Given the description of an element on the screen output the (x, y) to click on. 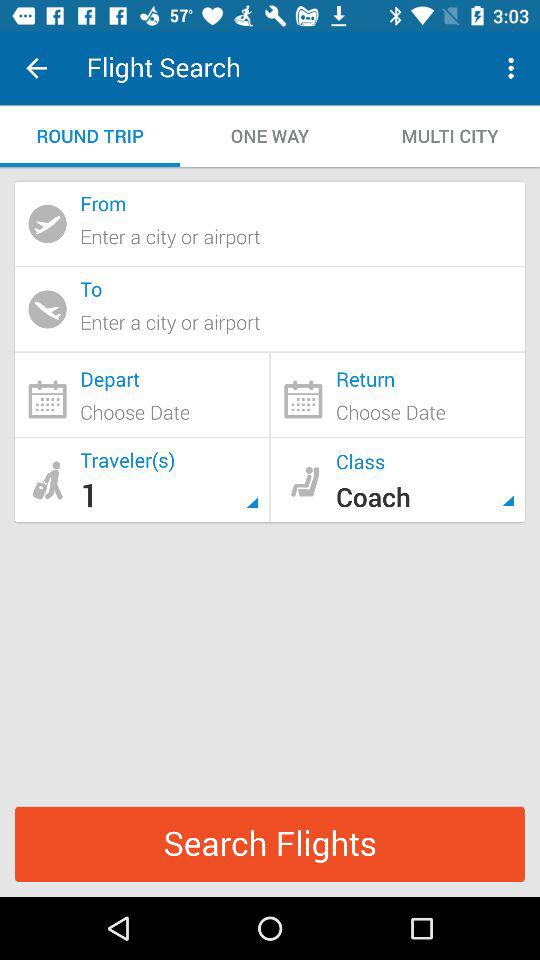
launch the icon to the right of the one way icon (513, 67)
